Given the description of an element on the screen output the (x, y) to click on. 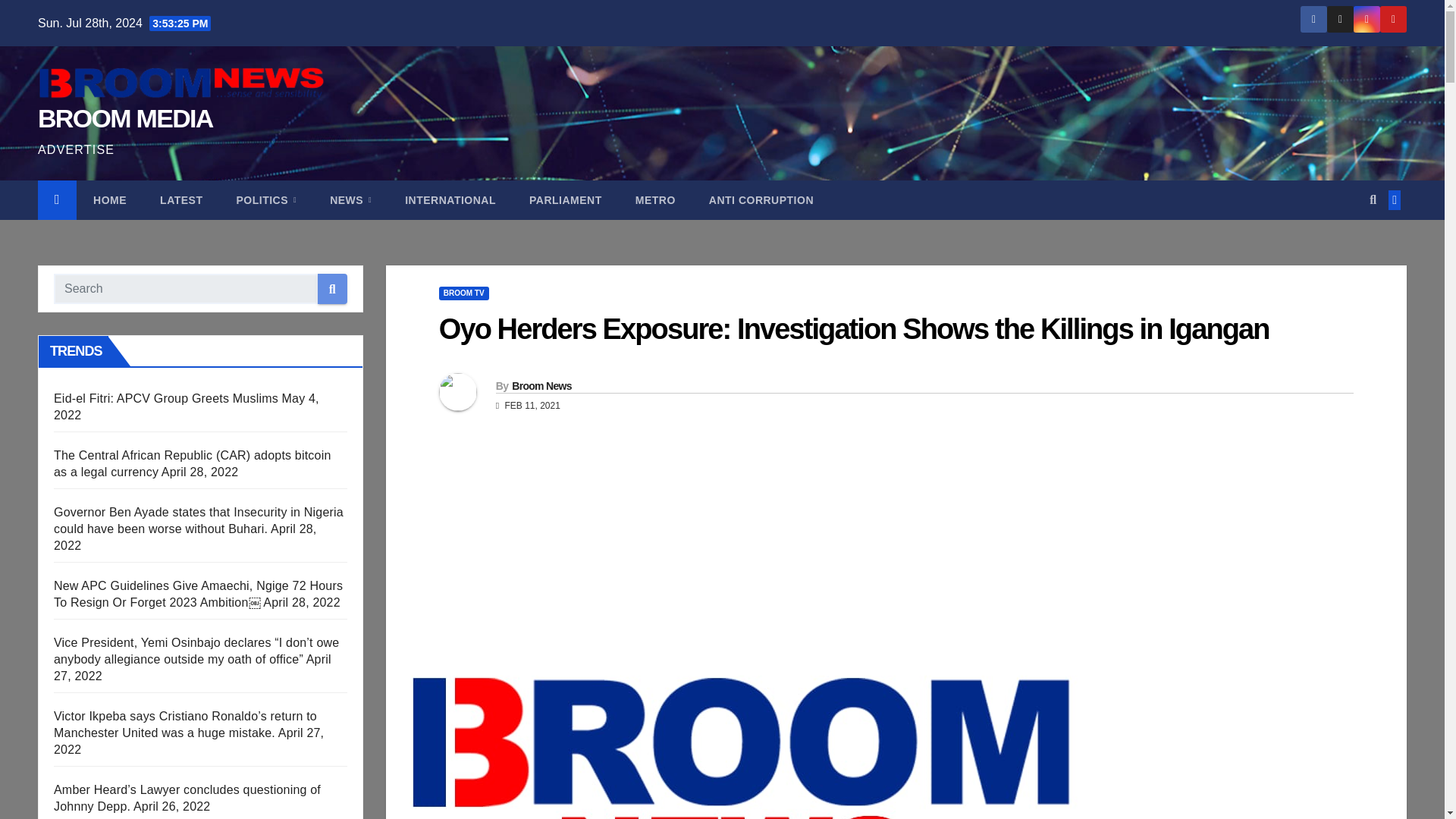
NEWS (350, 200)
Home (109, 200)
BROOM MEDIA (124, 118)
METRO (655, 200)
PARLIAMENT (565, 200)
Latest (180, 200)
ANTI CORRUPTION (761, 200)
POLITICS (266, 200)
INTERNATIONAL (450, 200)
HOME (109, 200)
News (350, 200)
LATEST (180, 200)
Eid-el Fitri: APCV Group Greets Muslims (165, 398)
POLITICS (266, 200)
